Given the description of an element on the screen output the (x, y) to click on. 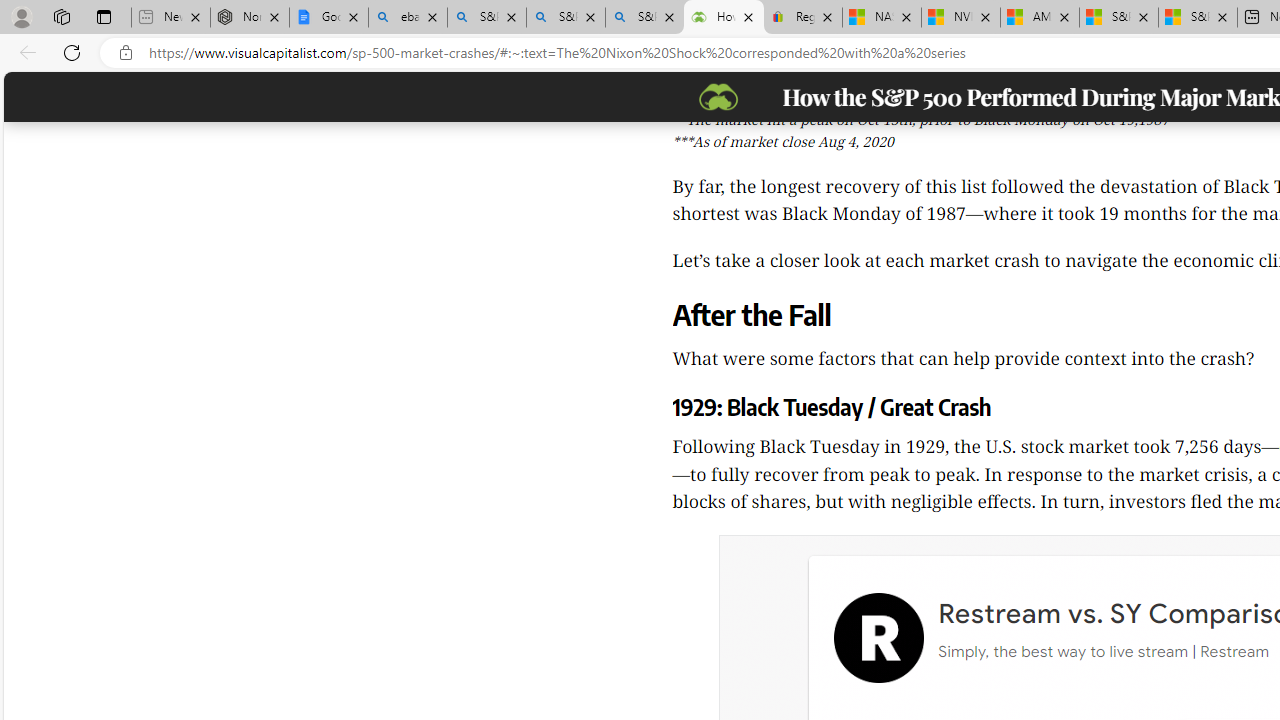
S&P 500 - Search (566, 17)
Simply, the best way to live stream | Restream (1102, 651)
S&P 500 index financial crisis decline - Search (644, 17)
Register: Create a personal eBay account (803, 17)
Restream (878, 638)
